Given the description of an element on the screen output the (x, y) to click on. 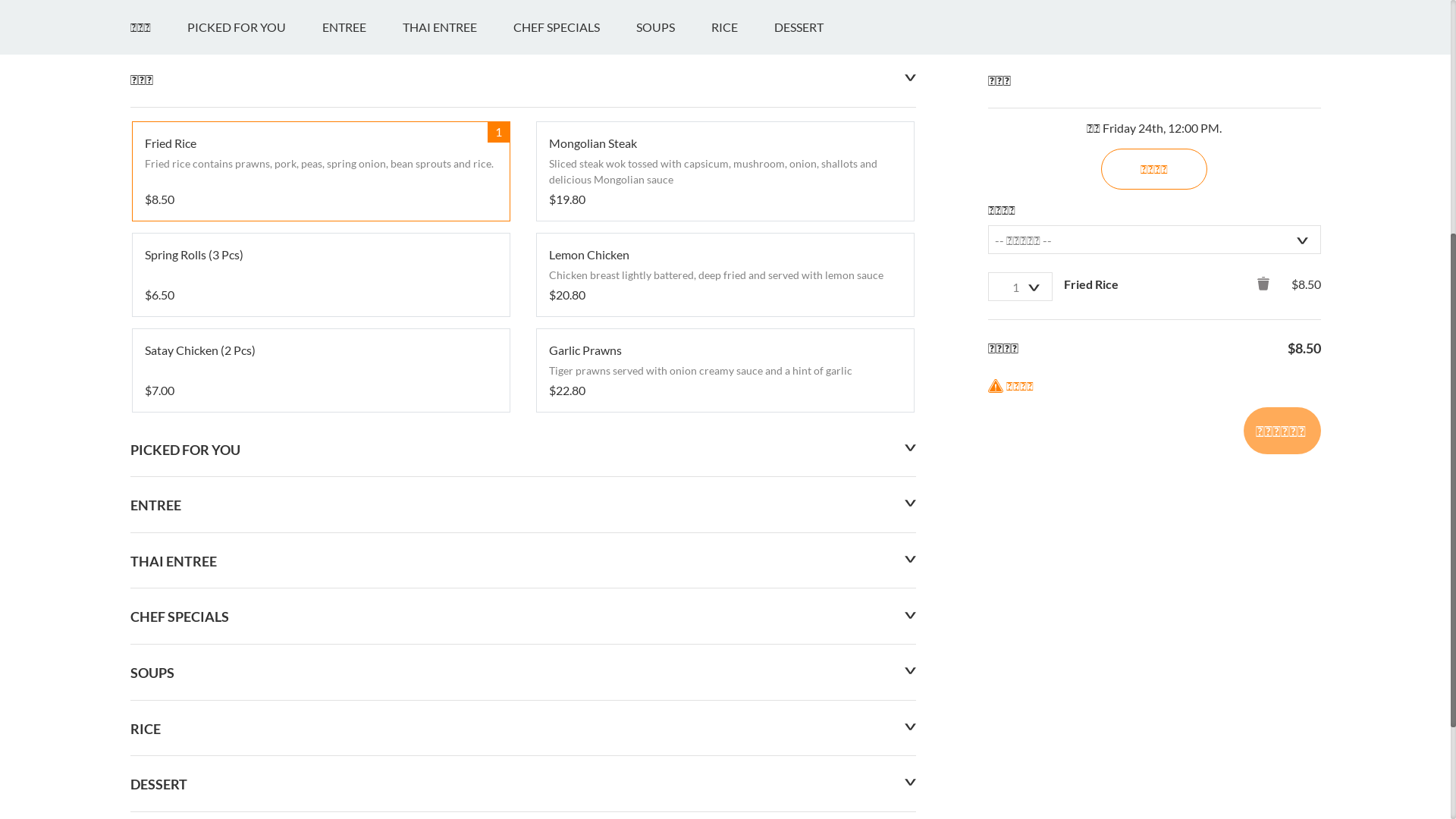
ENTREE Element type: text (361, 414)
Satay Chicken (2 Pcs)
$7.00 Element type: text (320, 757)
DESSERT Element type: text (816, 414)
Spring Rolls (3 Pcs)
$6.50 Element type: text (320, 662)
THAI ENTREE Element type: text (456, 414)
RICE Element type: text (742, 414)
Satay Chicken (2 Pcs)
$7.00 Element type: text (320, 757)
SOUPS Element type: text (672, 414)
PICKED FOR YOU Element type: text (253, 414)
House of Zen Element type: text (209, 223)
EN Element type: text (138, 16)
4.1 Element type: text (146, 278)
CHEF SPECIALS Element type: text (573, 414)
Spring Rolls (3 Pcs)
$6.50 Element type: text (320, 662)
